Given the description of an element on the screen output the (x, y) to click on. 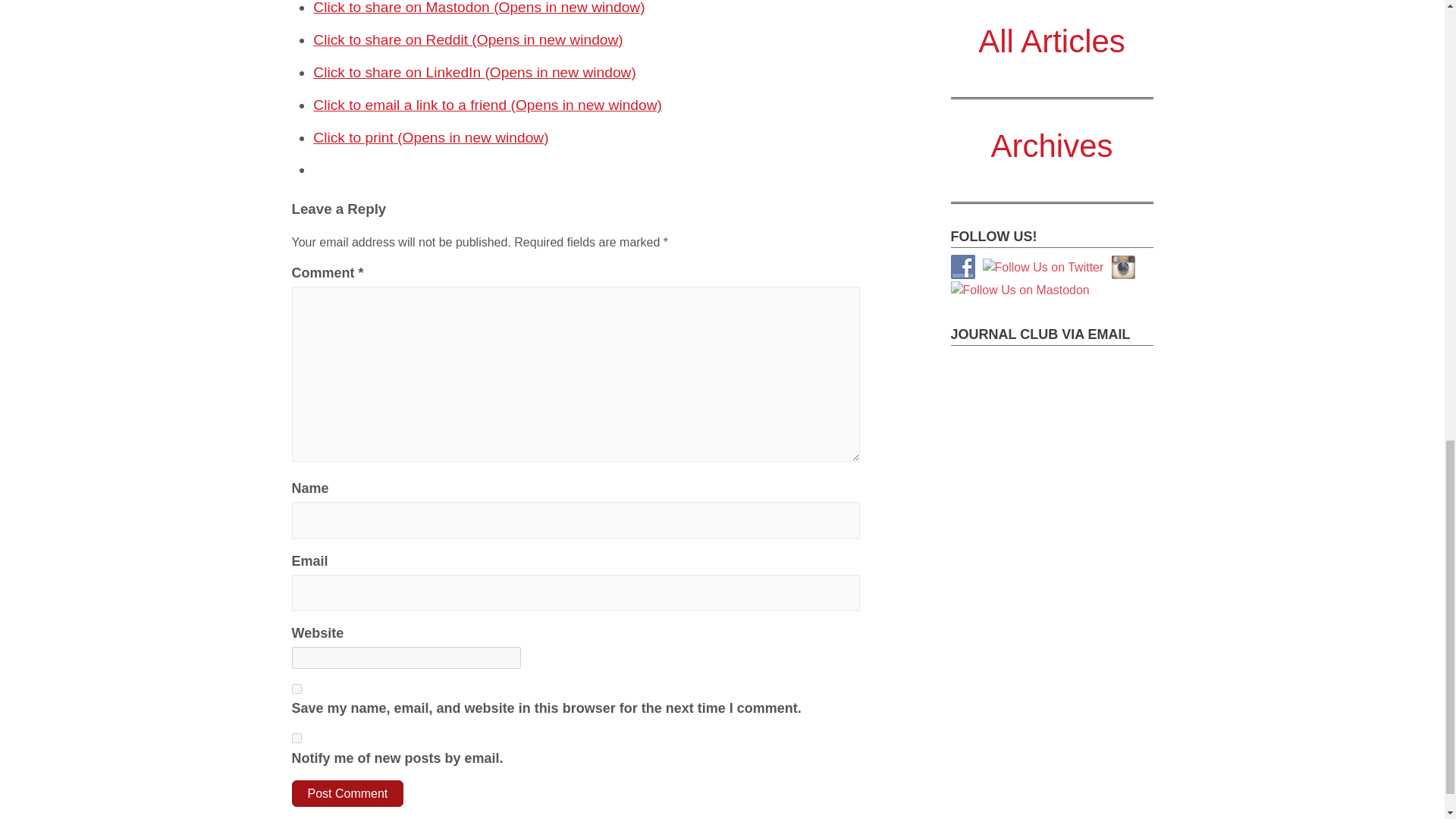
Click to share on LinkedIn (474, 72)
Click to share on Reddit (468, 39)
yes (296, 688)
Post Comment (347, 793)
Post Comment (347, 793)
Click to email a link to a friend (487, 105)
Click to print (430, 137)
subscribe (296, 737)
Click to share on Mastodon (479, 7)
